Given the description of an element on the screen output the (x, y) to click on. 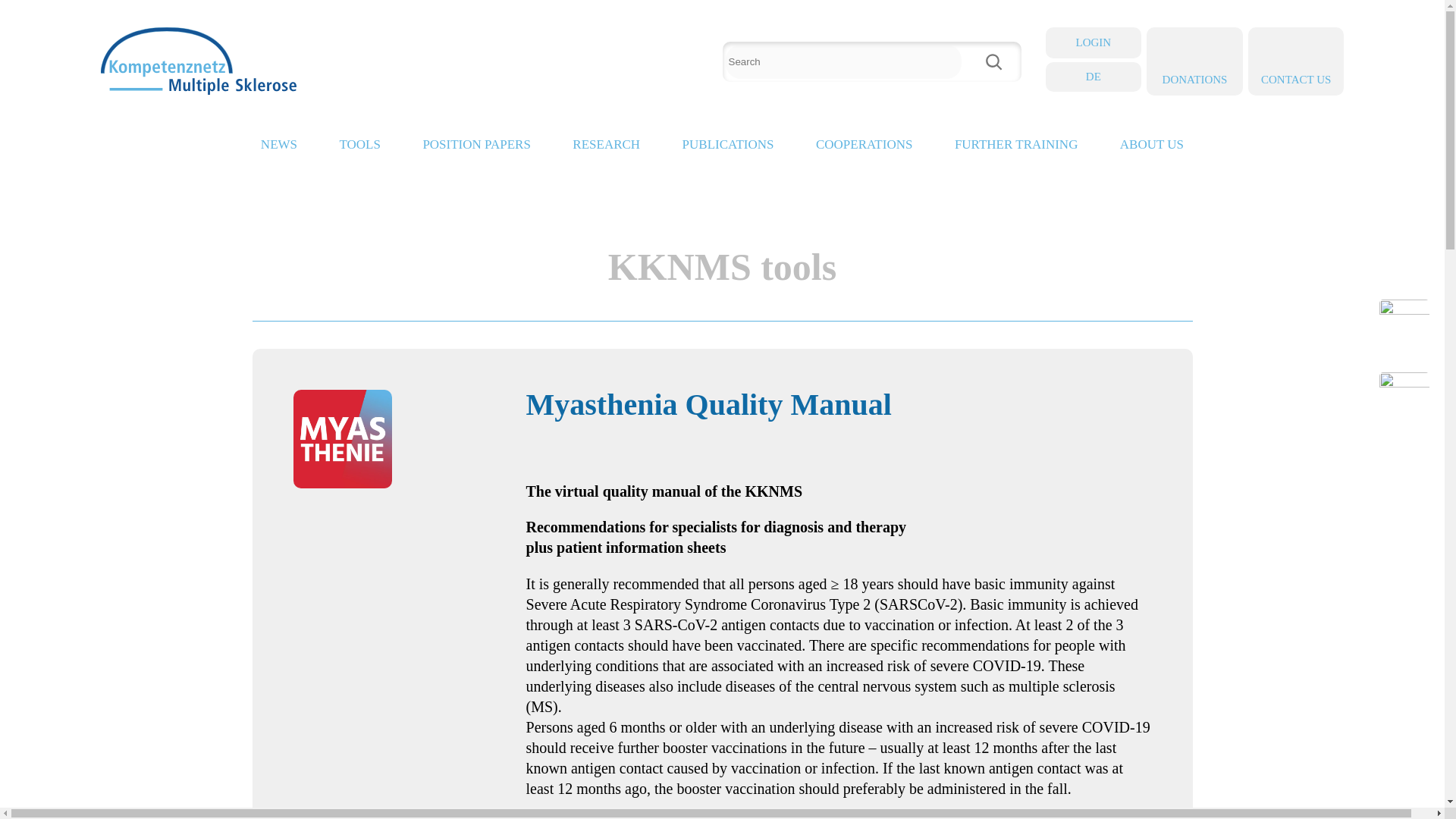
COOPERATIONS (863, 148)
DE (1093, 76)
NEWS (278, 148)
LOGIN (1093, 42)
POSITION PAPERS (476, 148)
PUBLICATIONS (728, 148)
CONTACT US (1295, 61)
RESEARCH (606, 148)
TOOLS (359, 148)
DONATIONS (1195, 61)
